Given the description of an element on the screen output the (x, y) to click on. 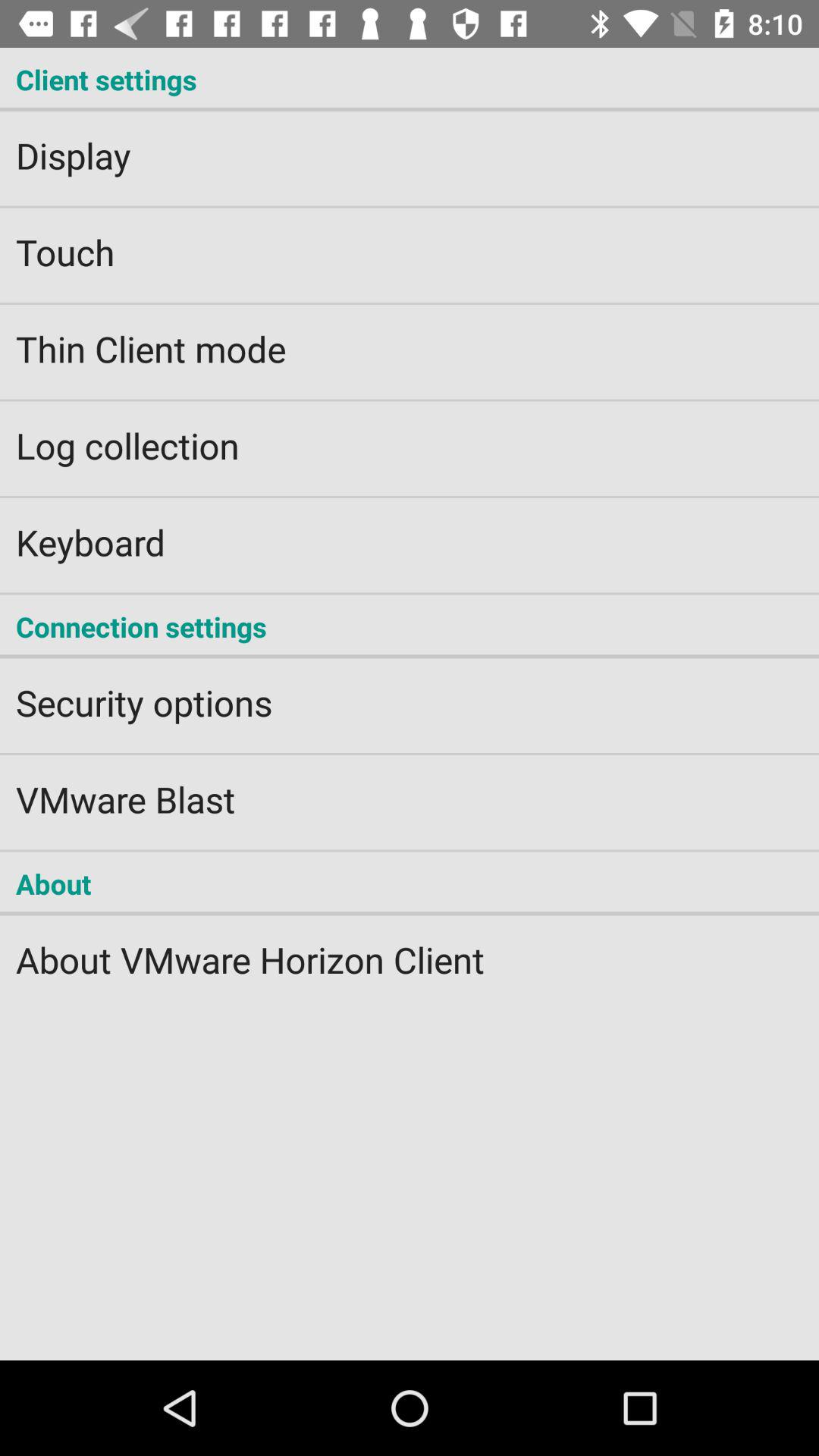
choose the log collection app (409, 435)
